Given the description of an element on the screen output the (x, y) to click on. 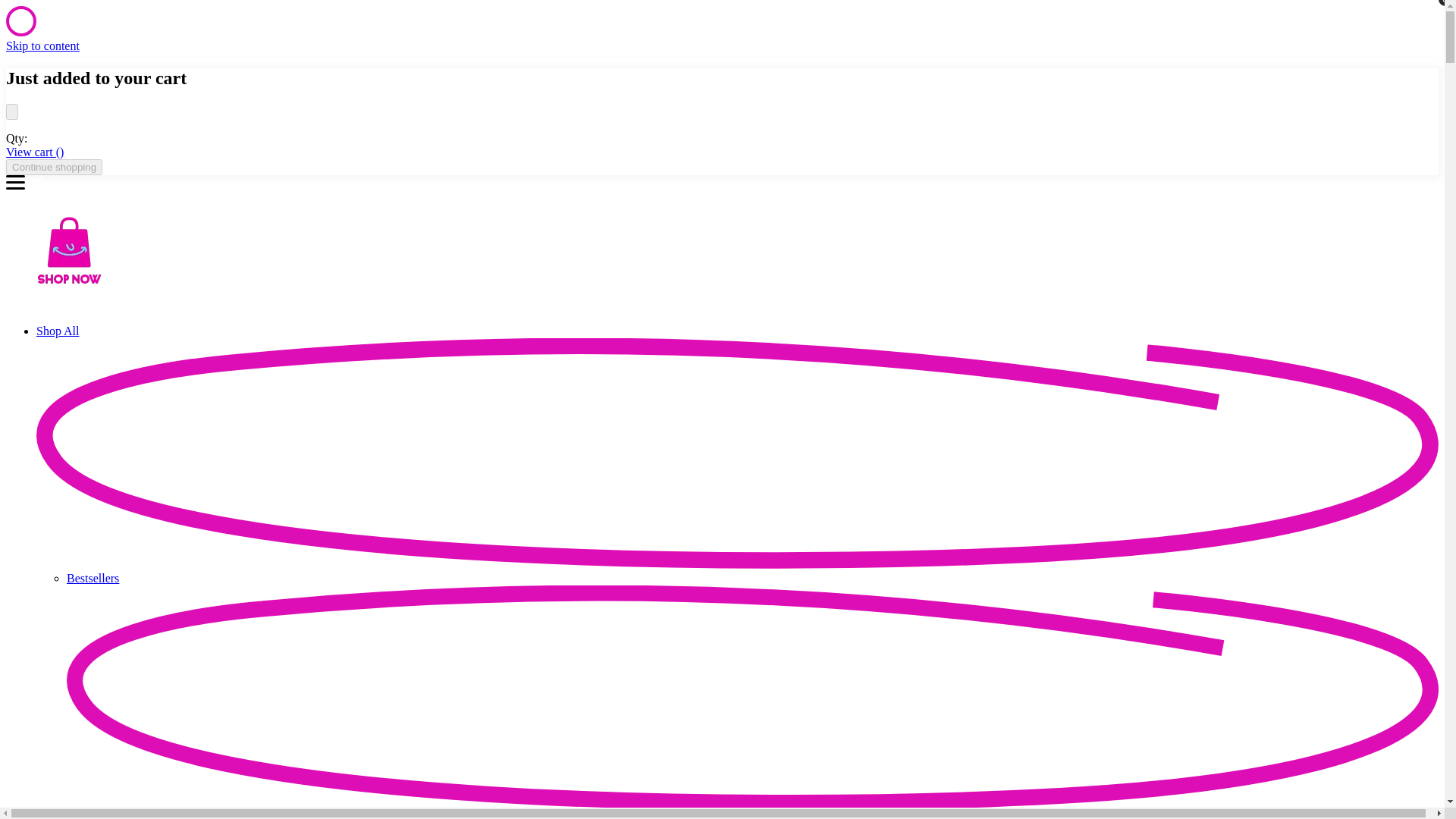
Skip to content (42, 45)
Continue shopping (53, 166)
